Given the description of an element on the screen output the (x, y) to click on. 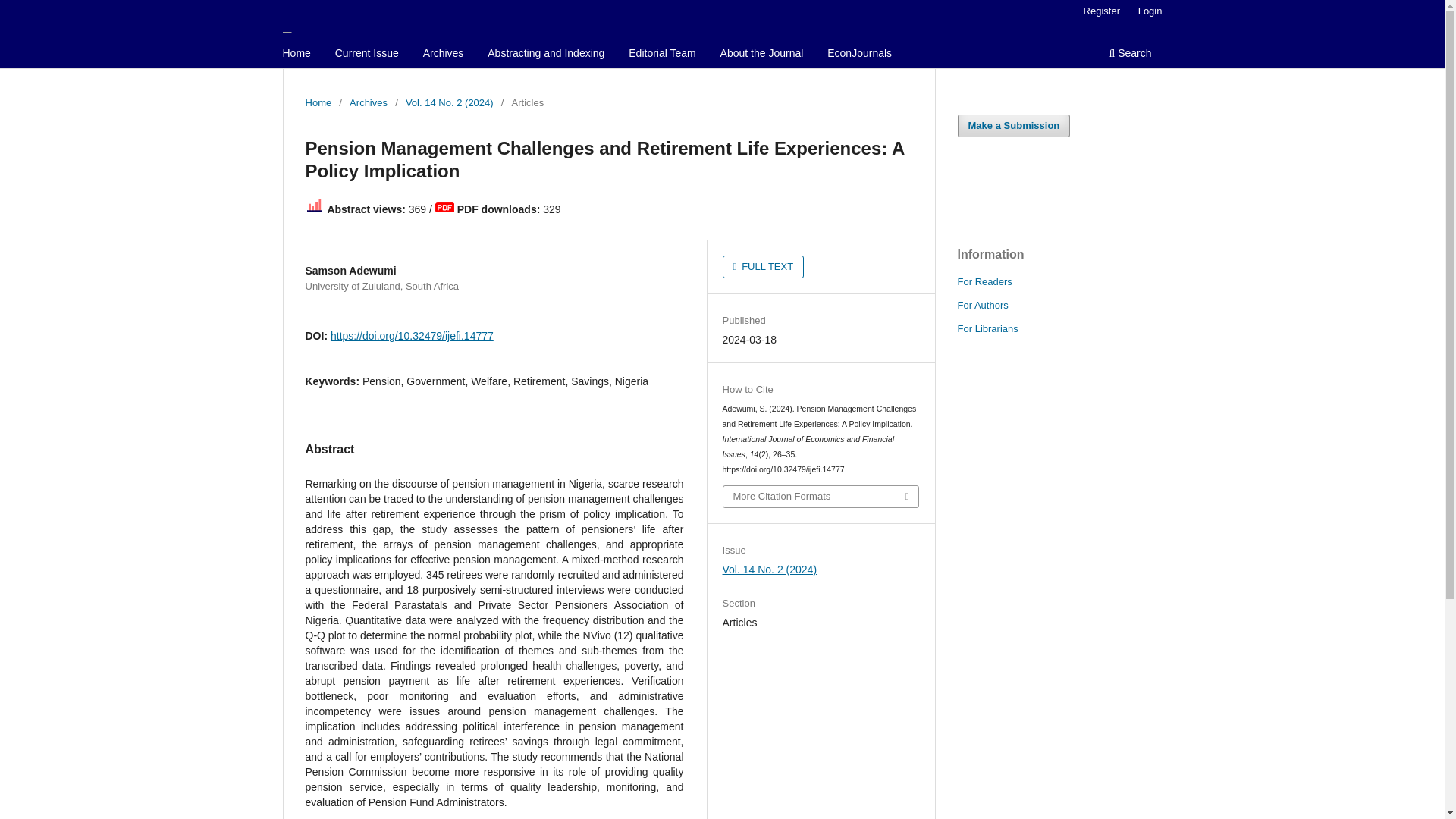
Search (1129, 54)
More Citation Formats (820, 496)
Login (1150, 11)
Abstracting and Indexing (545, 54)
FULL TEXT (763, 266)
Register (1100, 11)
Home (296, 54)
Archives (442, 54)
Home (317, 102)
Editorial Team (661, 54)
